Given the description of an element on the screen output the (x, y) to click on. 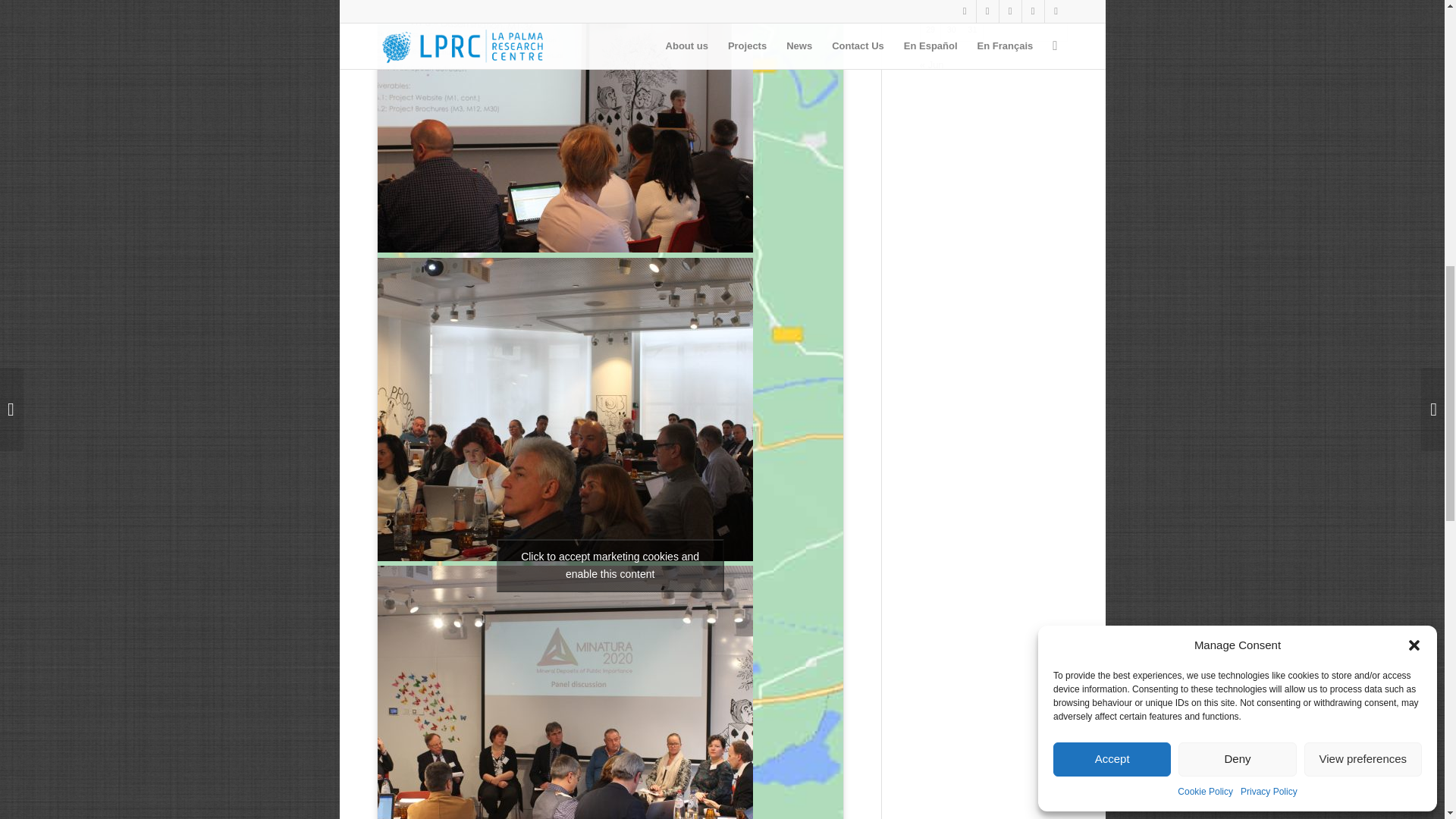
WP6 presentation (564, 128)
